Given the description of an element on the screen output the (x, y) to click on. 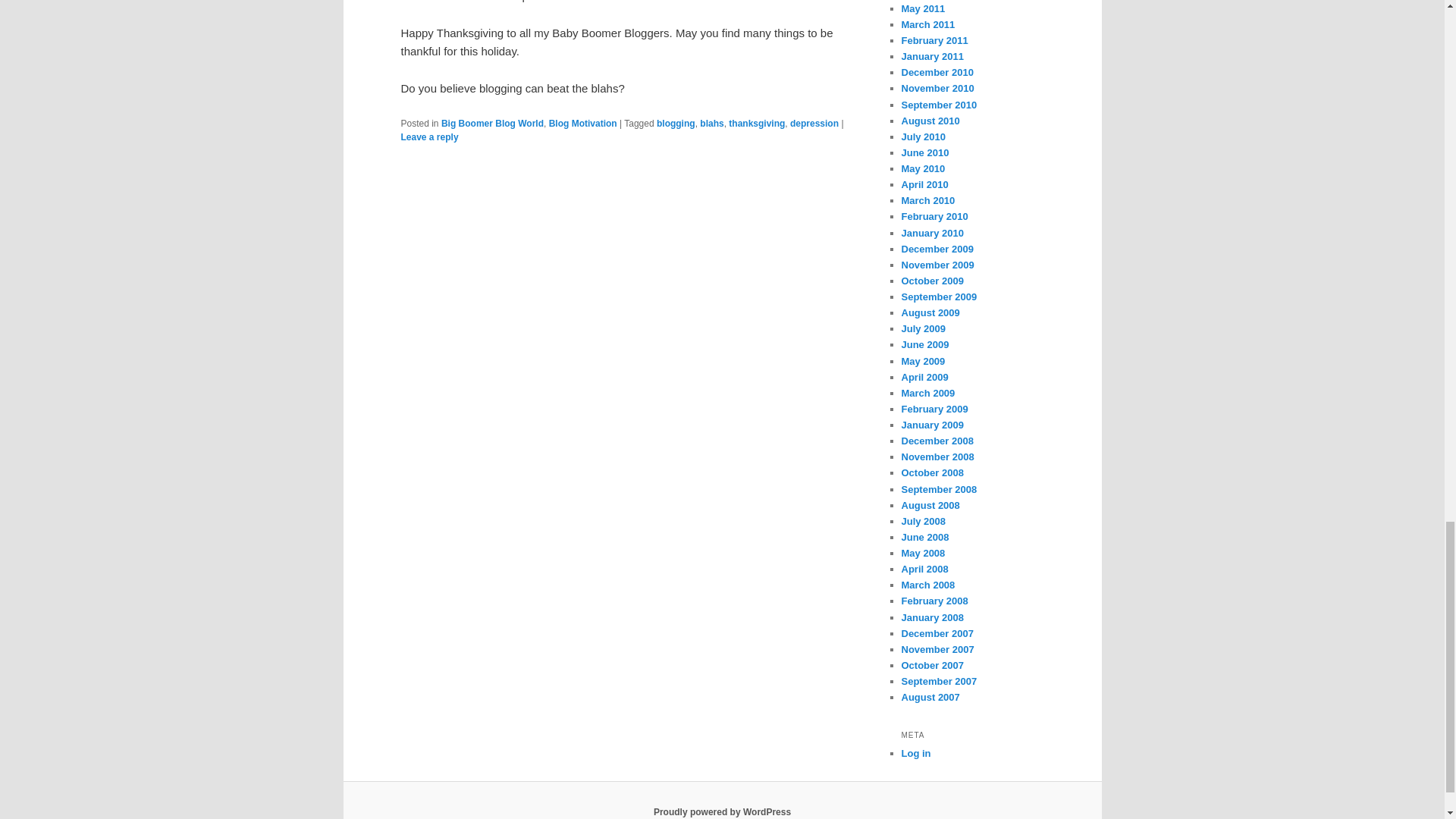
depression (814, 122)
thanksgiving (756, 122)
Big Boomer Blog World (492, 122)
Blog Motivation (582, 122)
blahs (711, 122)
blogging (675, 122)
Semantic Personal Publishing Platform (721, 811)
Leave a reply (429, 136)
